Given the description of an element on the screen output the (x, y) to click on. 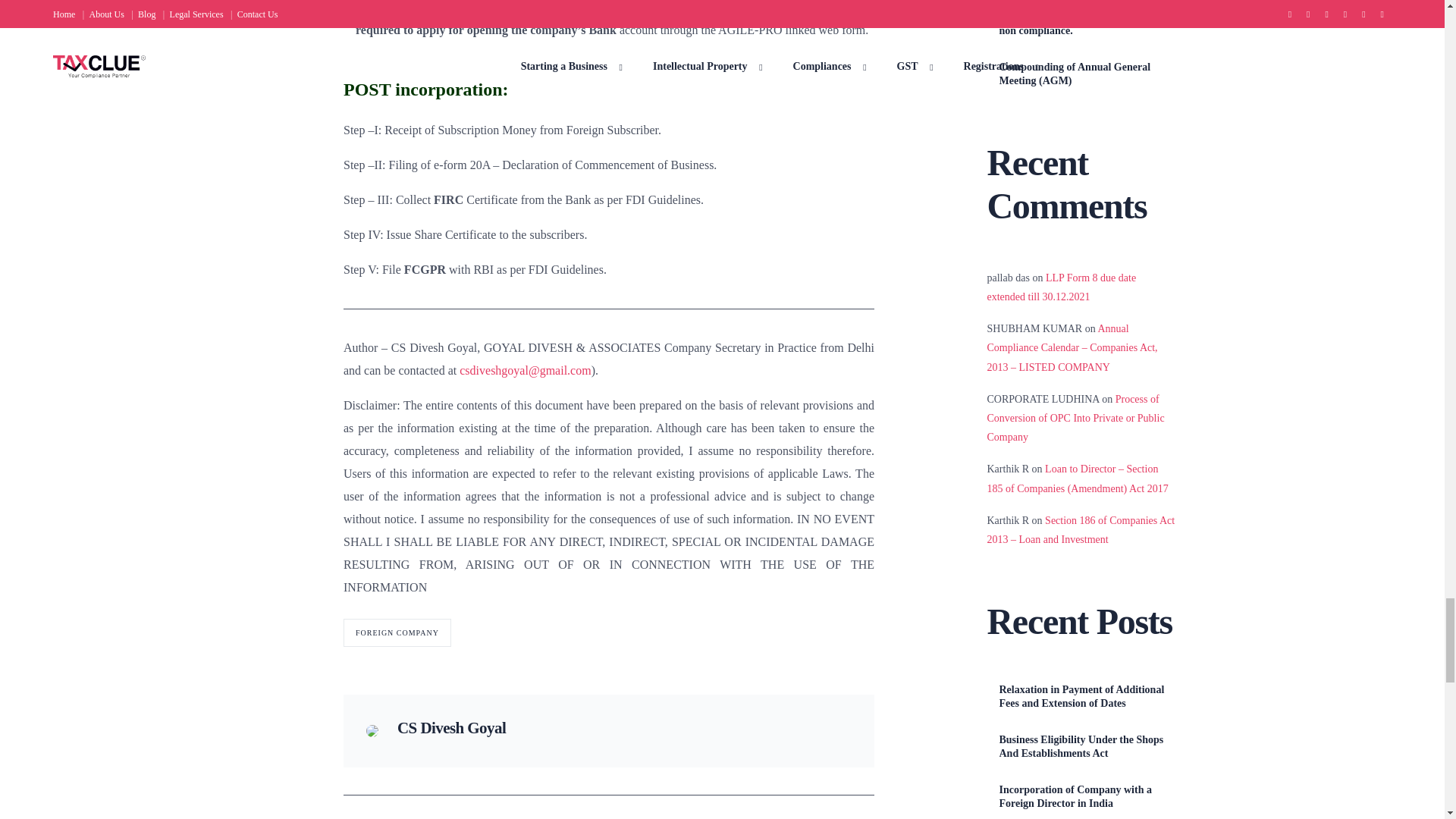
Posts by CS Divesh Goyal (451, 728)
